Given the description of an element on the screen output the (x, y) to click on. 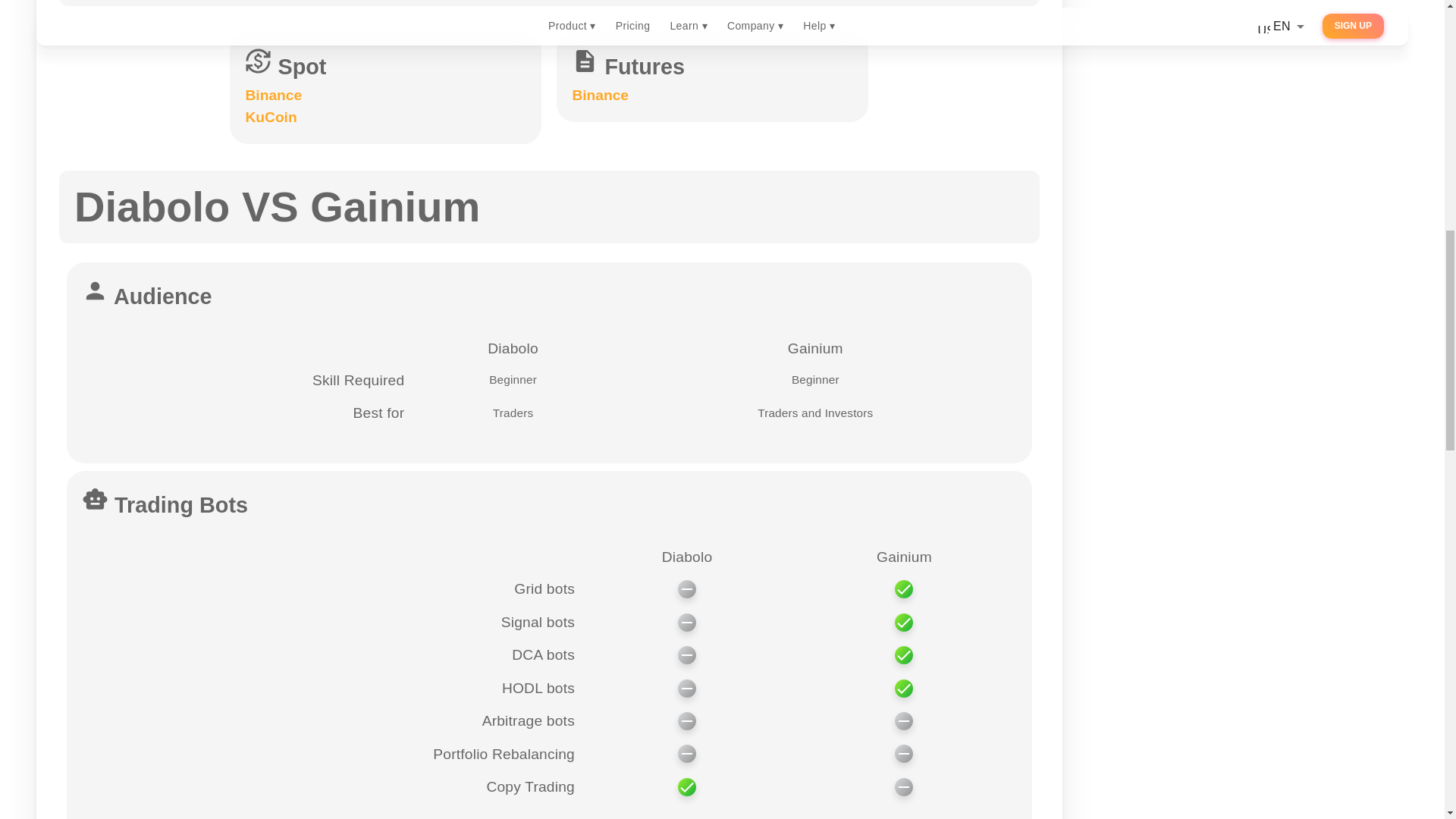
Binance (272, 94)
KuCoin (270, 116)
Binance (600, 94)
